Given the description of an element on the screen output the (x, y) to click on. 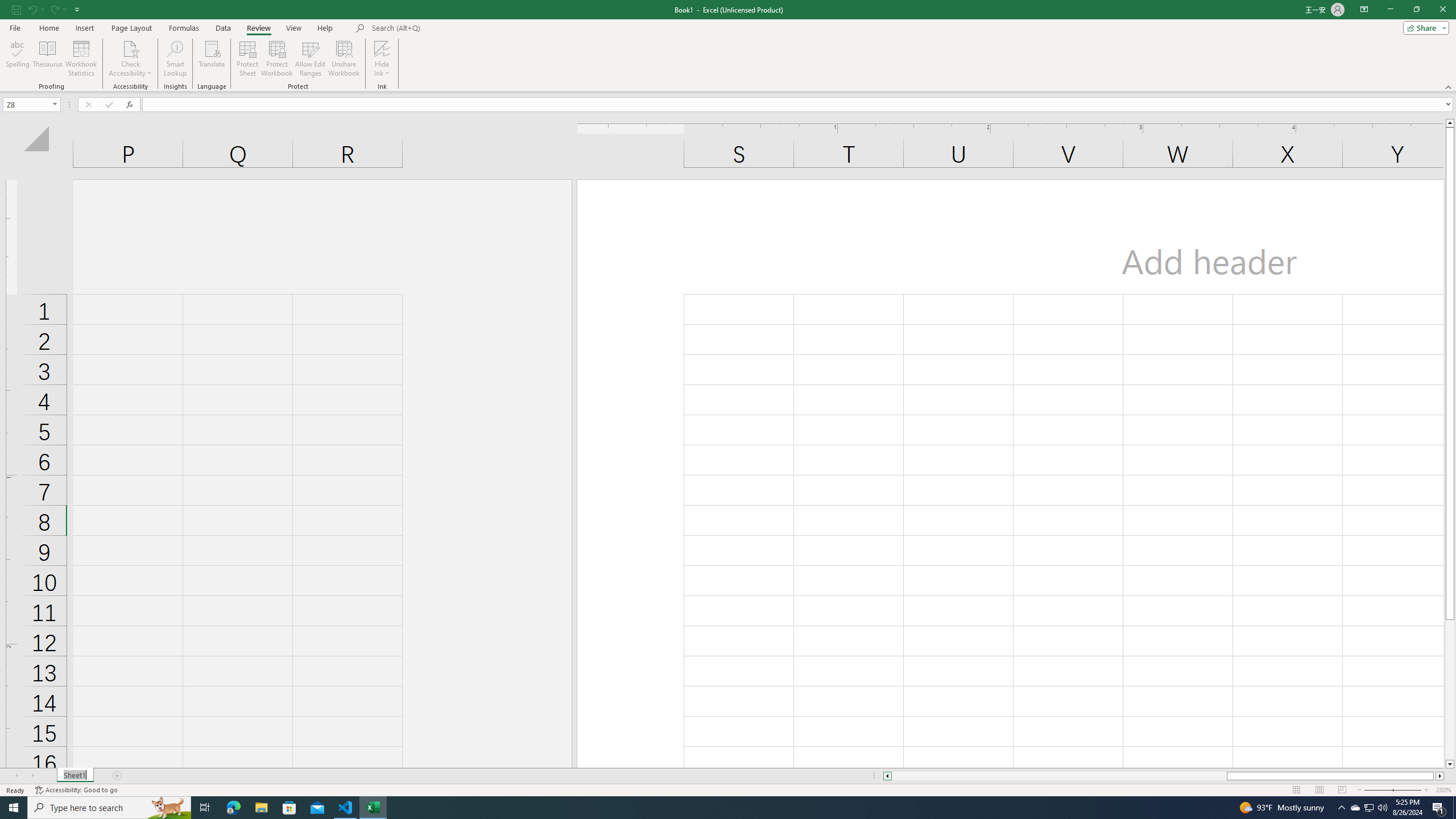
Protect Workbook... (277, 58)
Sheet Tab (74, 775)
Translate (211, 58)
Allow Edit Ranges (310, 58)
Page left (1059, 775)
